Given the description of an element on the screen output the (x, y) to click on. 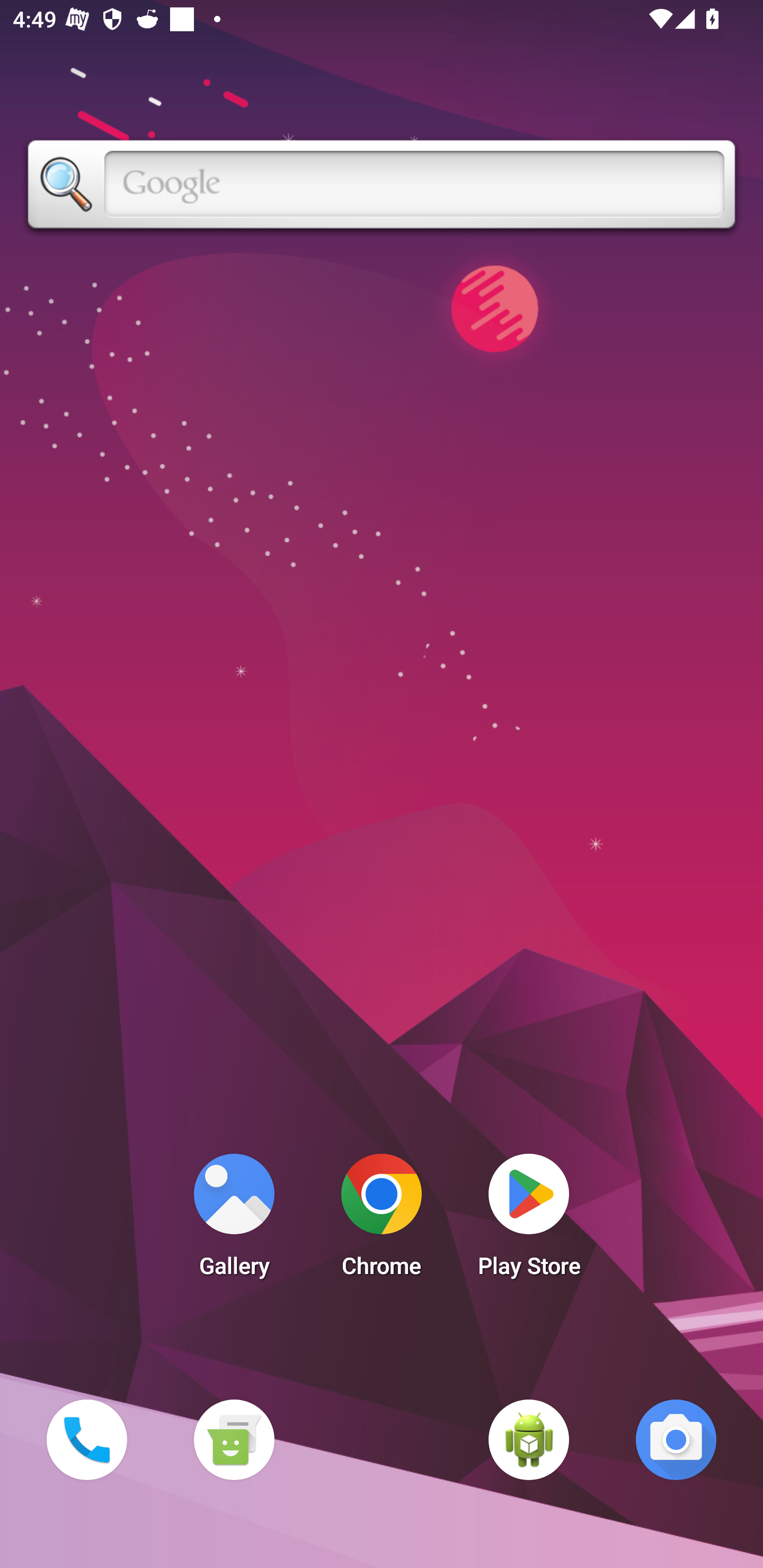
Gallery (233, 1220)
Chrome (381, 1220)
Play Store (528, 1220)
Phone (86, 1439)
Messaging (233, 1439)
WebView Browser Tester (528, 1439)
Camera (676, 1439)
